Given the description of an element on the screen output the (x, y) to click on. 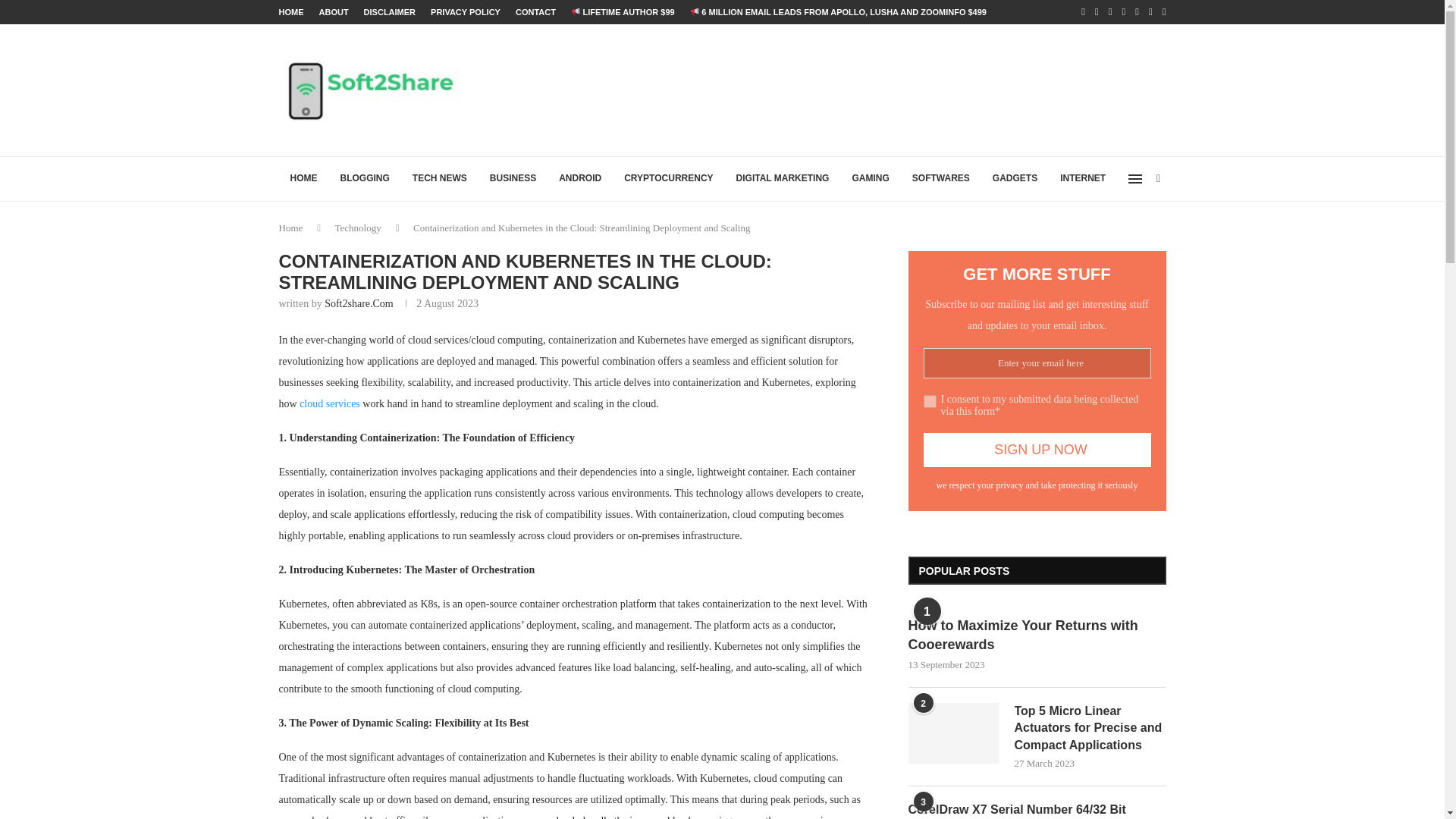
GAMING (869, 178)
BUSINESS (513, 178)
CRYPTOCURRENCY (667, 178)
ABOUT (332, 12)
on (929, 400)
HOME (291, 12)
GADGETS (1014, 178)
Sign Up Now (1037, 449)
DIGITAL MARKETING (783, 178)
PRIVACY POLICY (465, 12)
SOFTWARES (941, 178)
cloud services (329, 403)
Home (290, 227)
BLOGGING (365, 178)
Soft2share.Com (358, 303)
